Given the description of an element on the screen output the (x, y) to click on. 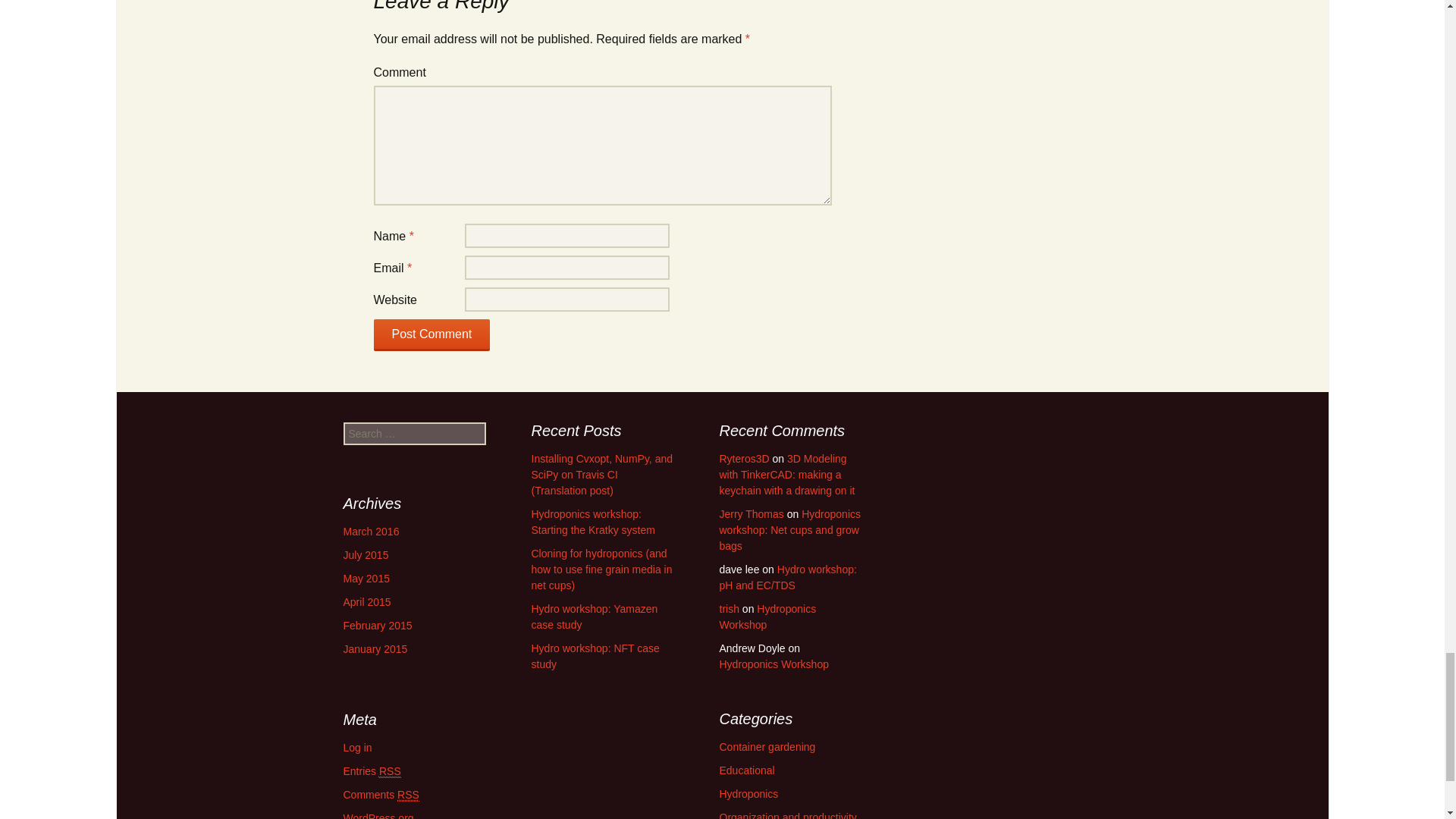
Ryteros3D (743, 458)
Post Comment (430, 335)
Jerry Thomas (751, 513)
trish (728, 608)
Hydroponics workshop: Net cups and grow bags (789, 529)
Hydro workshop: Yamazen case study (594, 616)
Hydroponics workshop: Starting the Kratky system (592, 521)
Hydro workshop: NFT case study (595, 656)
